Given the description of an element on the screen output the (x, y) to click on. 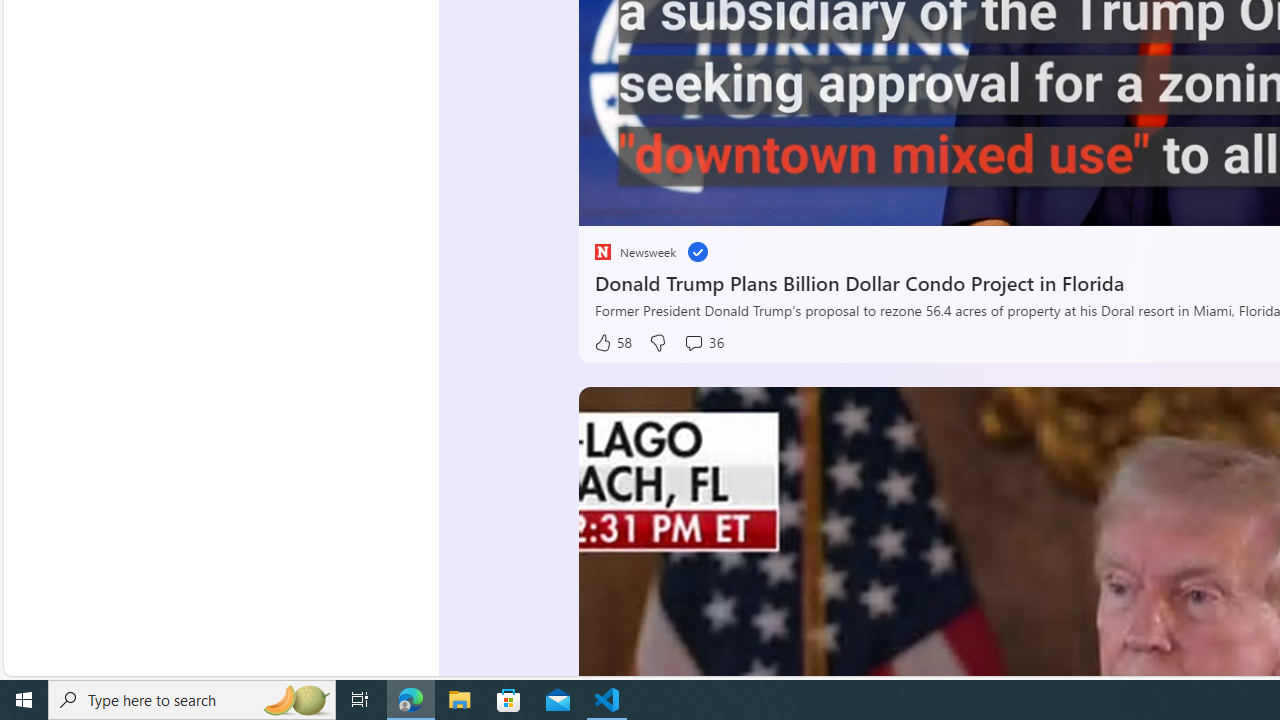
Dislike (656, 343)
To get missing image descriptions, open the context menu. (648, 202)
View comments 36 Comment (703, 343)
placeholder Newsweek (634, 252)
58 Like (611, 343)
placeholder (601, 252)
Seek Back (648, 203)
Seek Forward (688, 203)
Pause (607, 203)
